Given the description of an element on the screen output the (x, y) to click on. 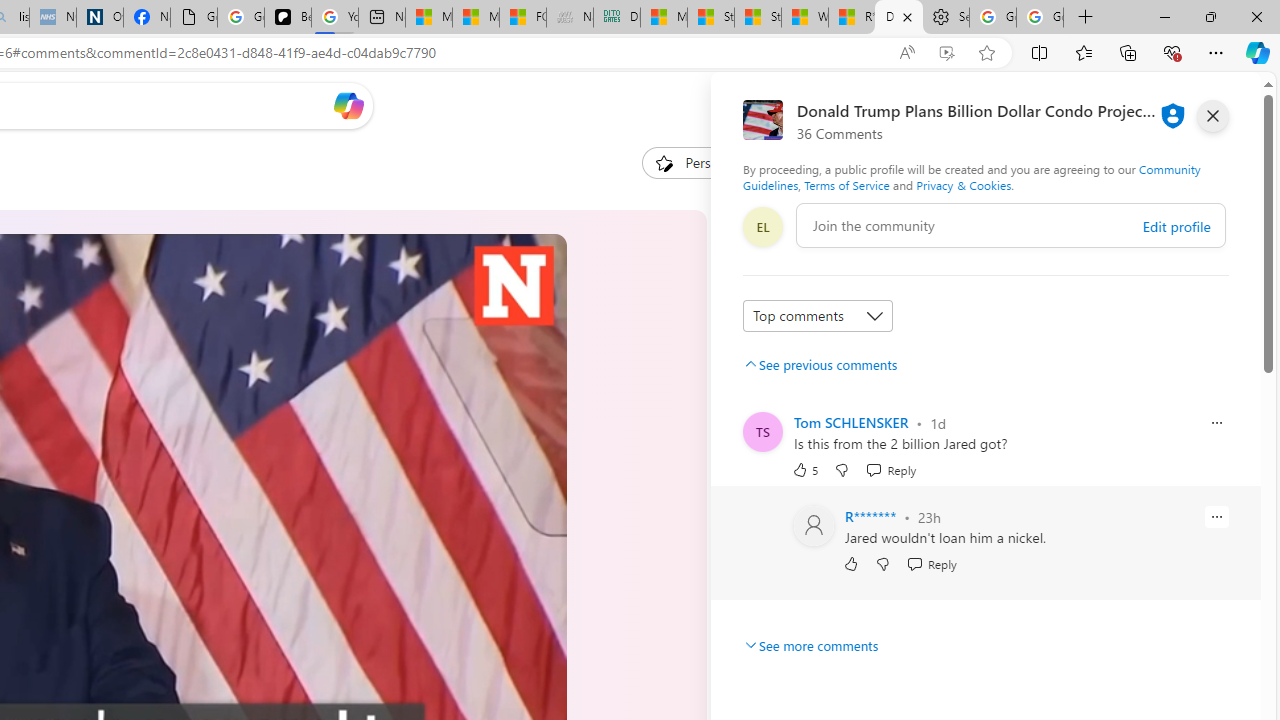
Report comment (1216, 516)
Enhance video (946, 53)
close (1212, 115)
Profile Picture (813, 525)
